Given the description of an element on the screen output the (x, y) to click on. 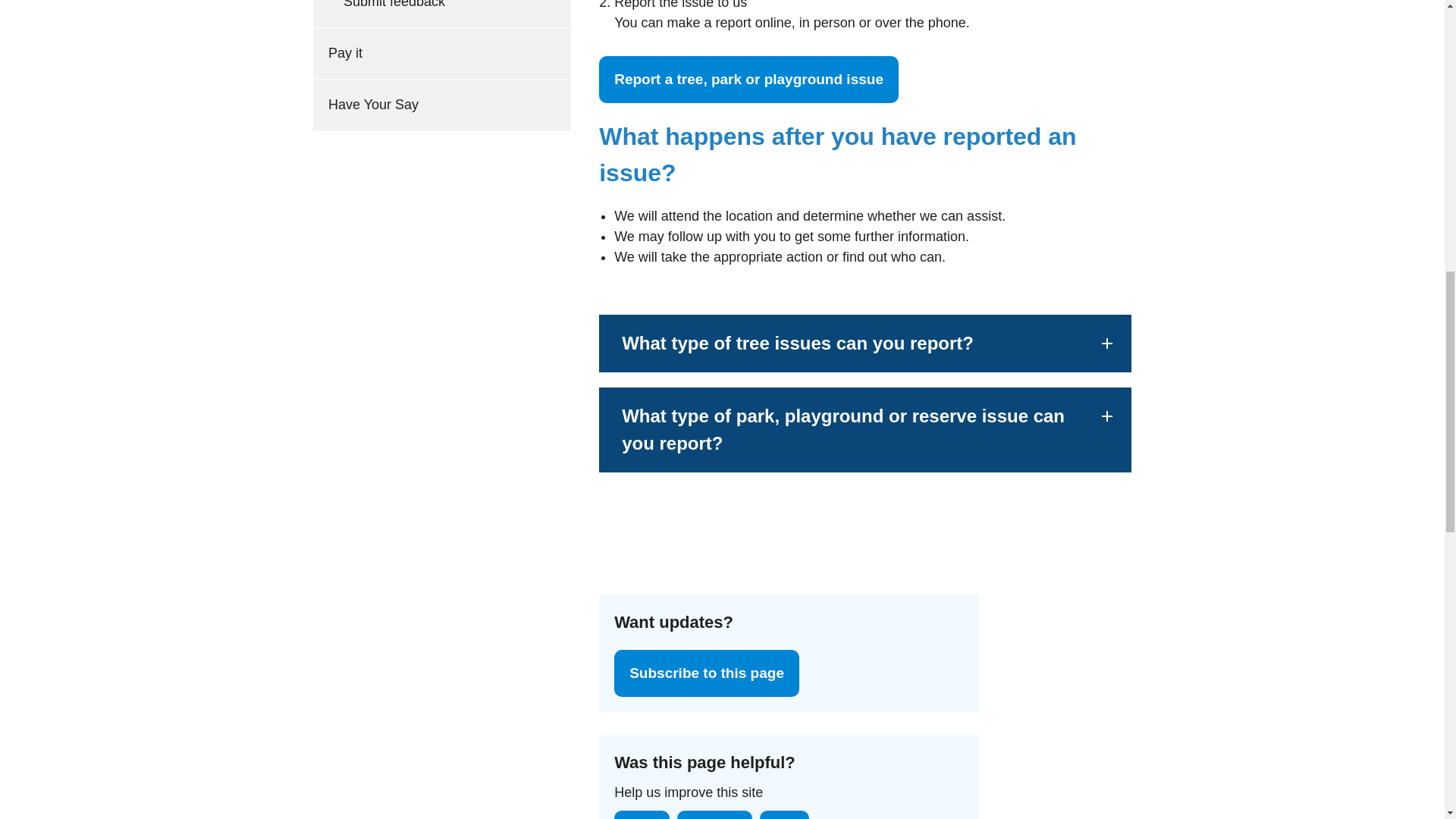
Yes (641, 814)
Maybe (714, 814)
No (784, 814)
Yes, this page was helpful (641, 814)
No, this page was not helpful (784, 814)
Subscribe to this page (706, 673)
